Given the description of an element on the screen output the (x, y) to click on. 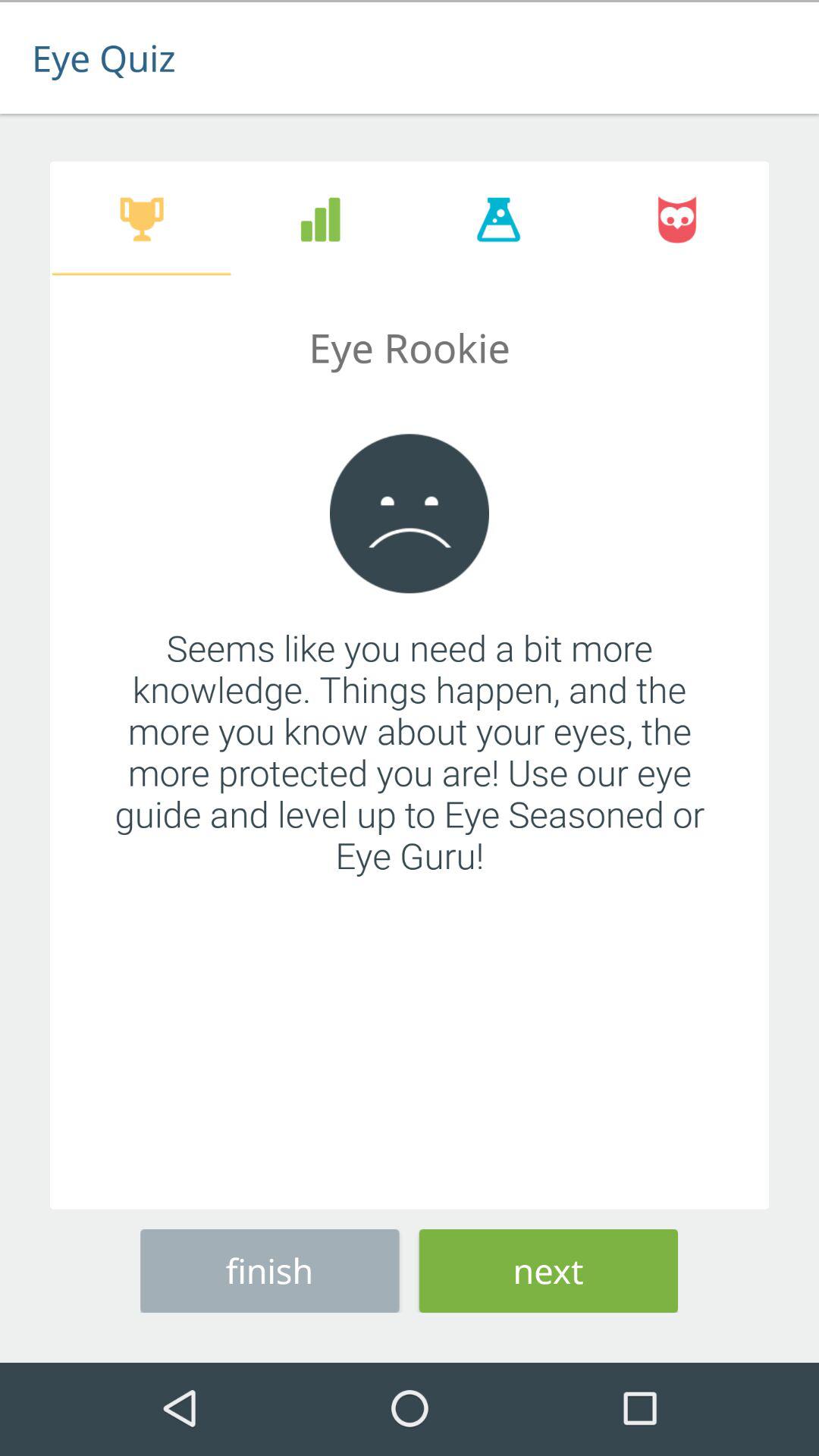
click item at the bottom right corner (548, 1268)
